Given the description of an element on the screen output the (x, y) to click on. 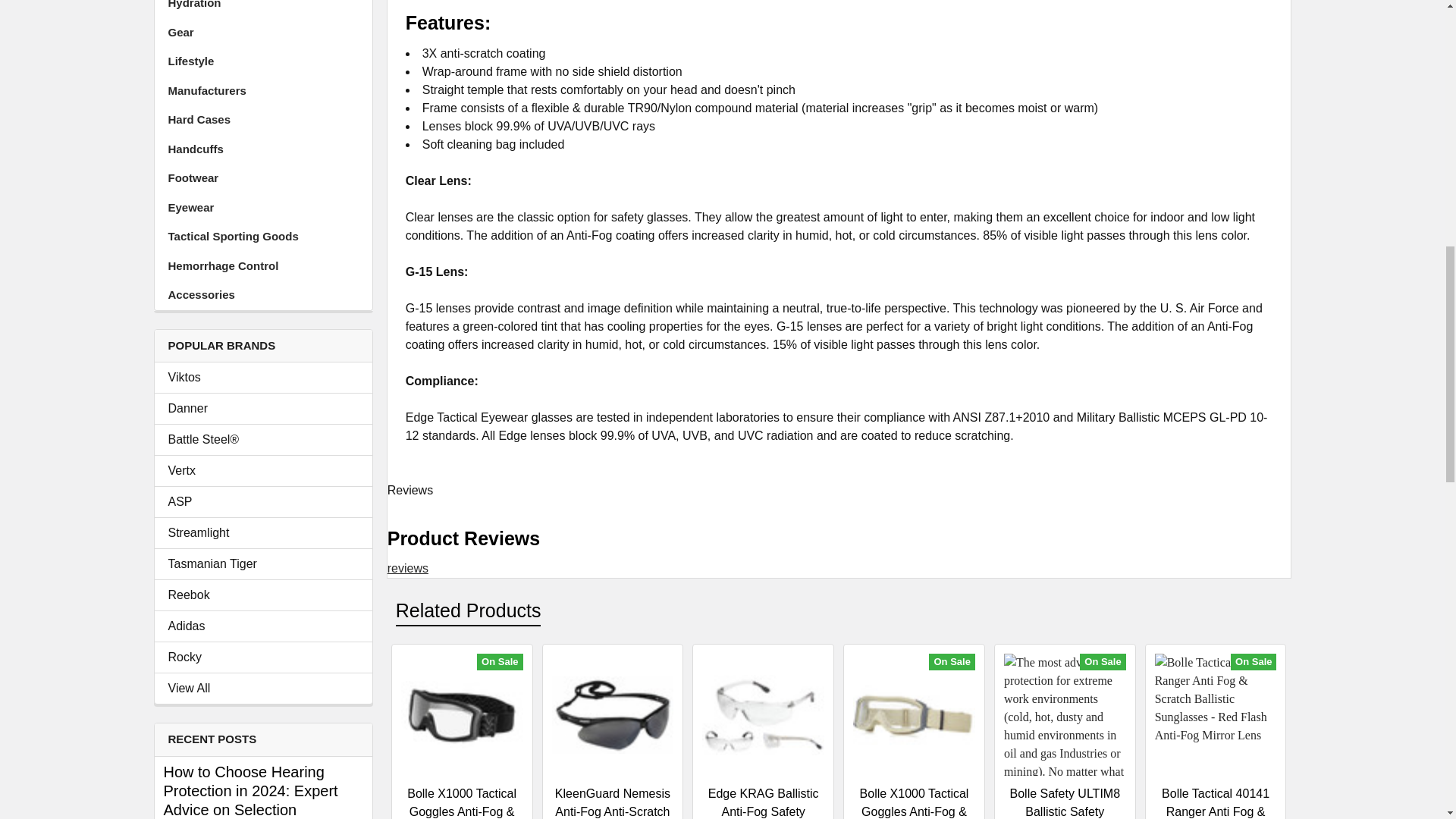
Rocky (263, 657)
Reebok (263, 595)
Danner (263, 408)
Streamlight (263, 533)
Tasmanian Tiger (263, 564)
Adidas (263, 626)
ASP (263, 502)
Viktos (263, 377)
Vertx (263, 470)
